Given the description of an element on the screen output the (x, y) to click on. 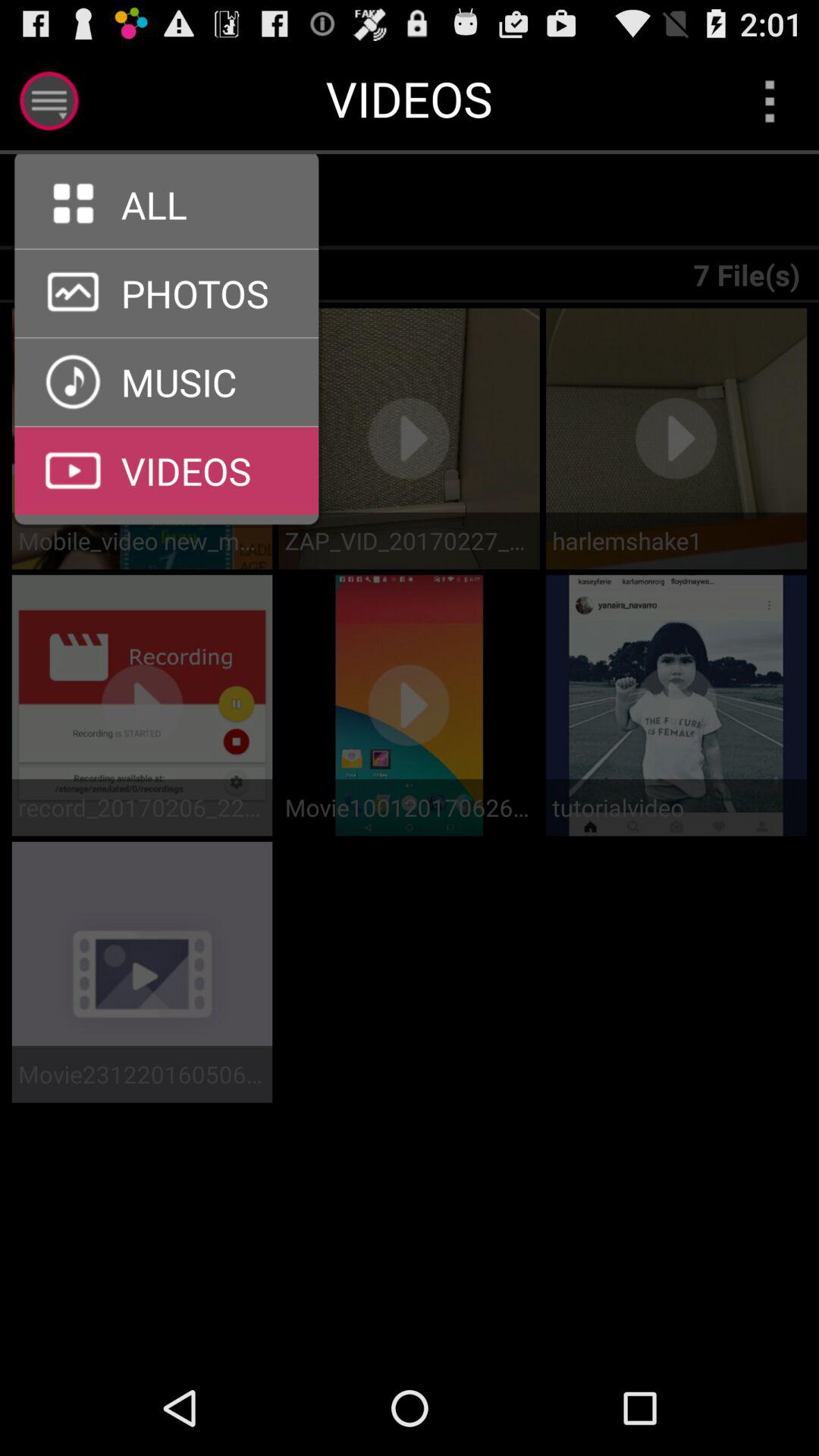
click to see all (166, 248)
